Given the description of an element on the screen output the (x, y) to click on. 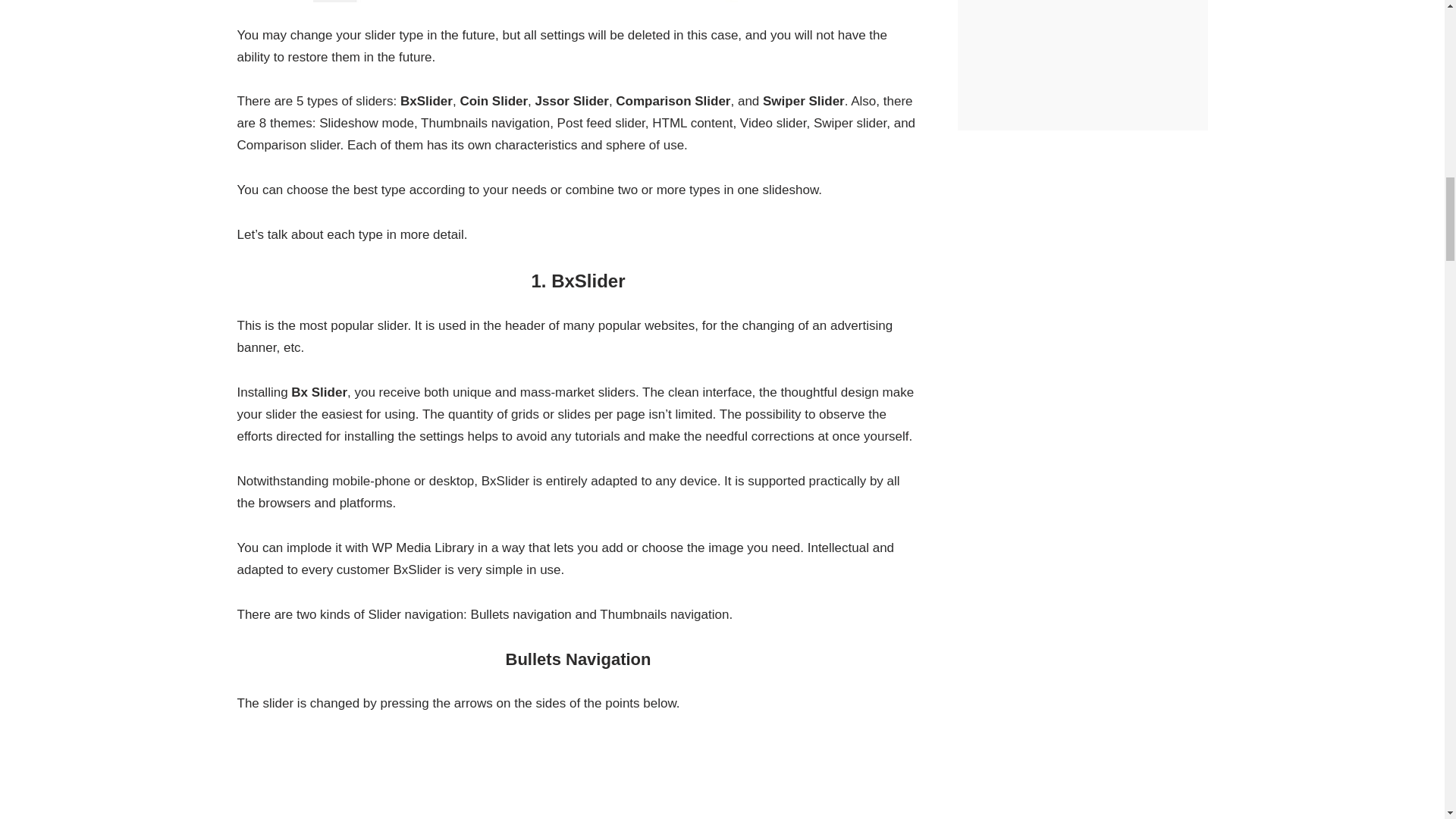
Bullets Navigation (578, 778)
